Given the description of an element on the screen output the (x, y) to click on. 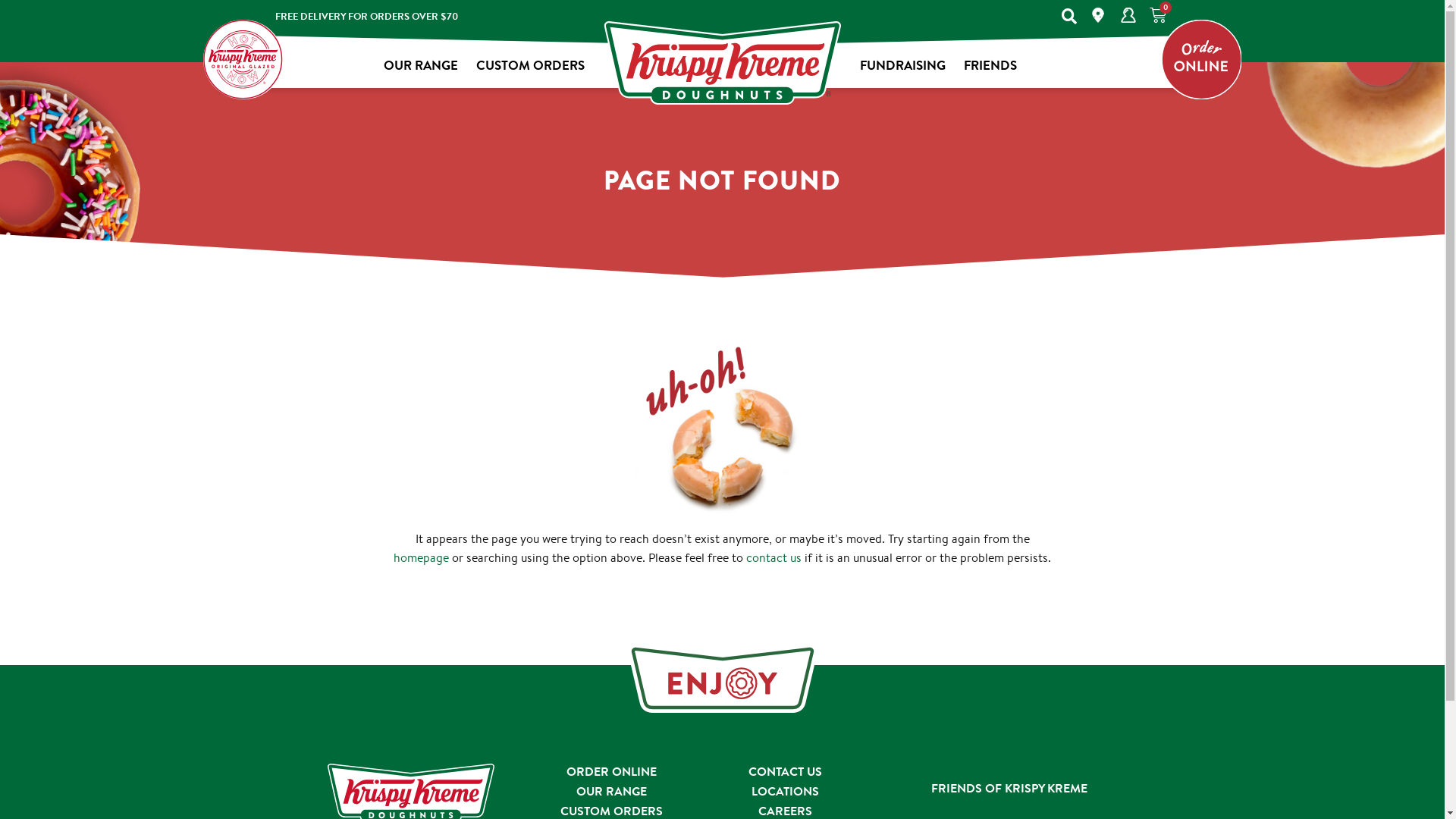
FUNDRAISING Element type: text (902, 65)
0
Cart Element type: text (1156, 14)
CONTACT US Element type: text (785, 771)
OUR RANGE Element type: text (611, 790)
LOCATIONS Element type: text (785, 790)
contact us Element type: text (773, 557)
OUR RANGE Element type: text (420, 65)
CUSTOM ORDERS Element type: text (530, 65)
FRIENDS Element type: text (990, 65)
homepage Element type: text (420, 557)
ORDER ONLINE Element type: text (611, 771)
